Given the description of an element on the screen output the (x, y) to click on. 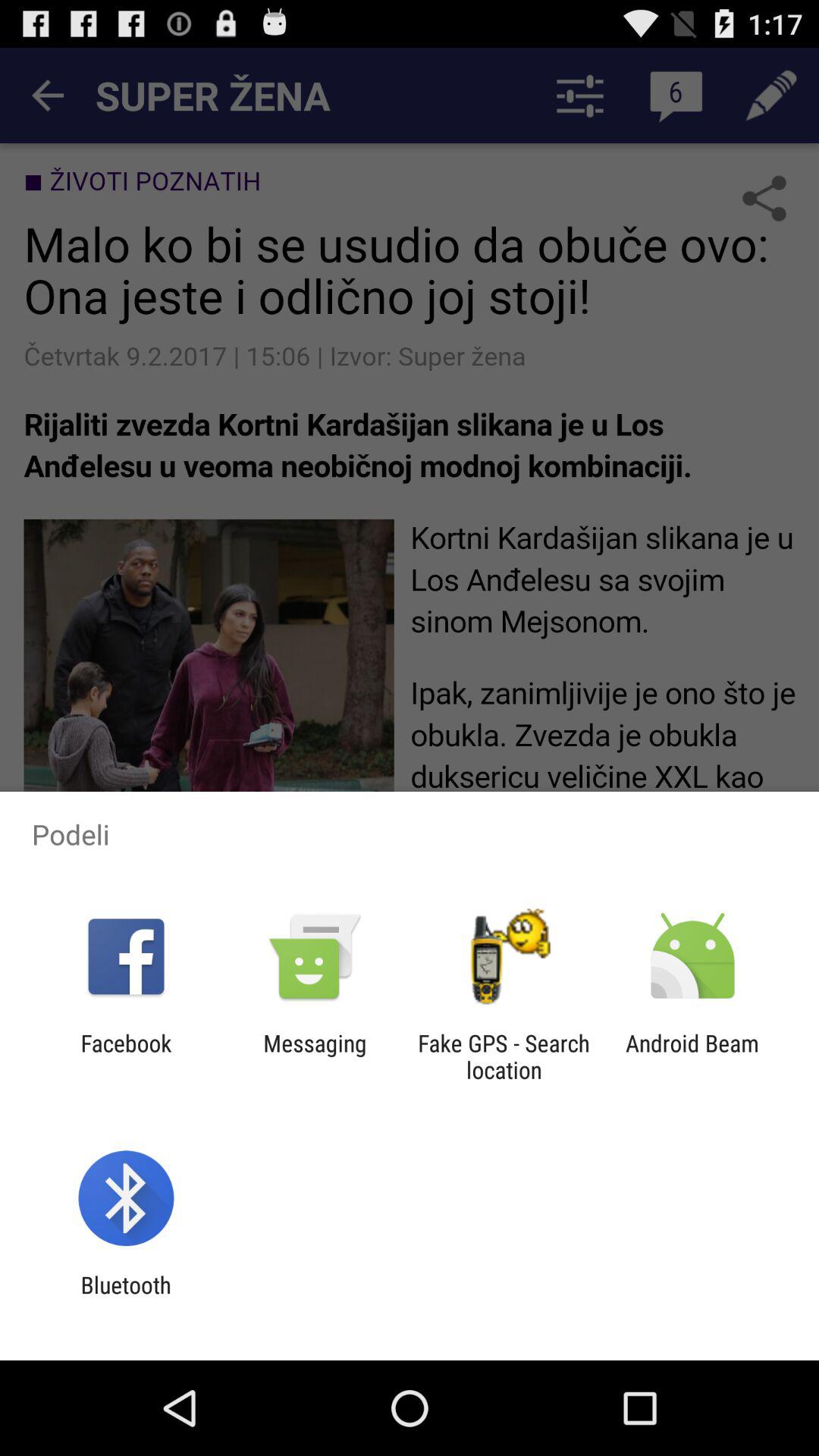
select app to the right of the messaging item (503, 1056)
